Given the description of an element on the screen output the (x, y) to click on. 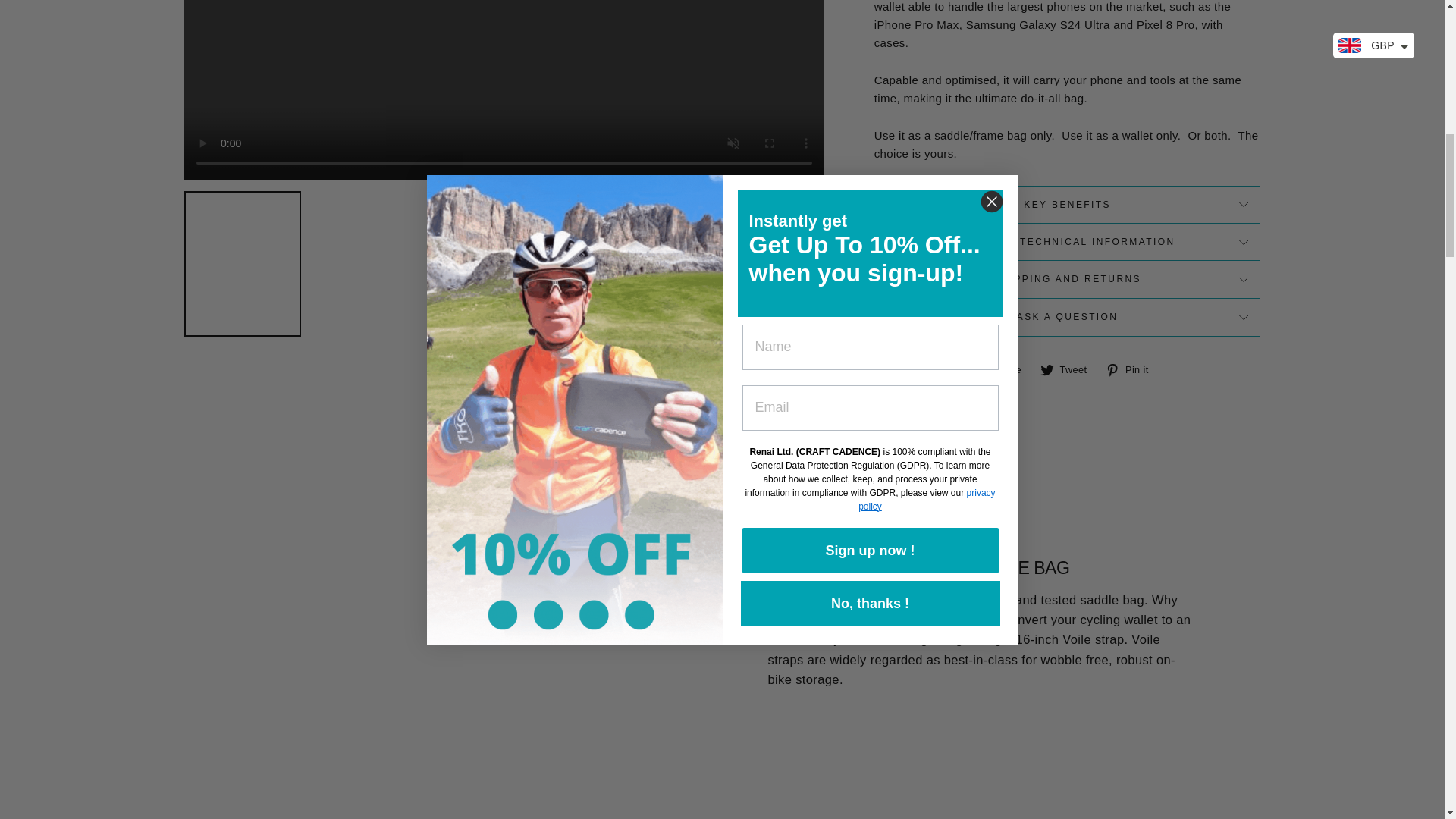
Pin on Pinterest (1131, 368)
Tweet on Twitter (1069, 368)
Share on Facebook (1003, 368)
